Given the description of an element on the screen output the (x, y) to click on. 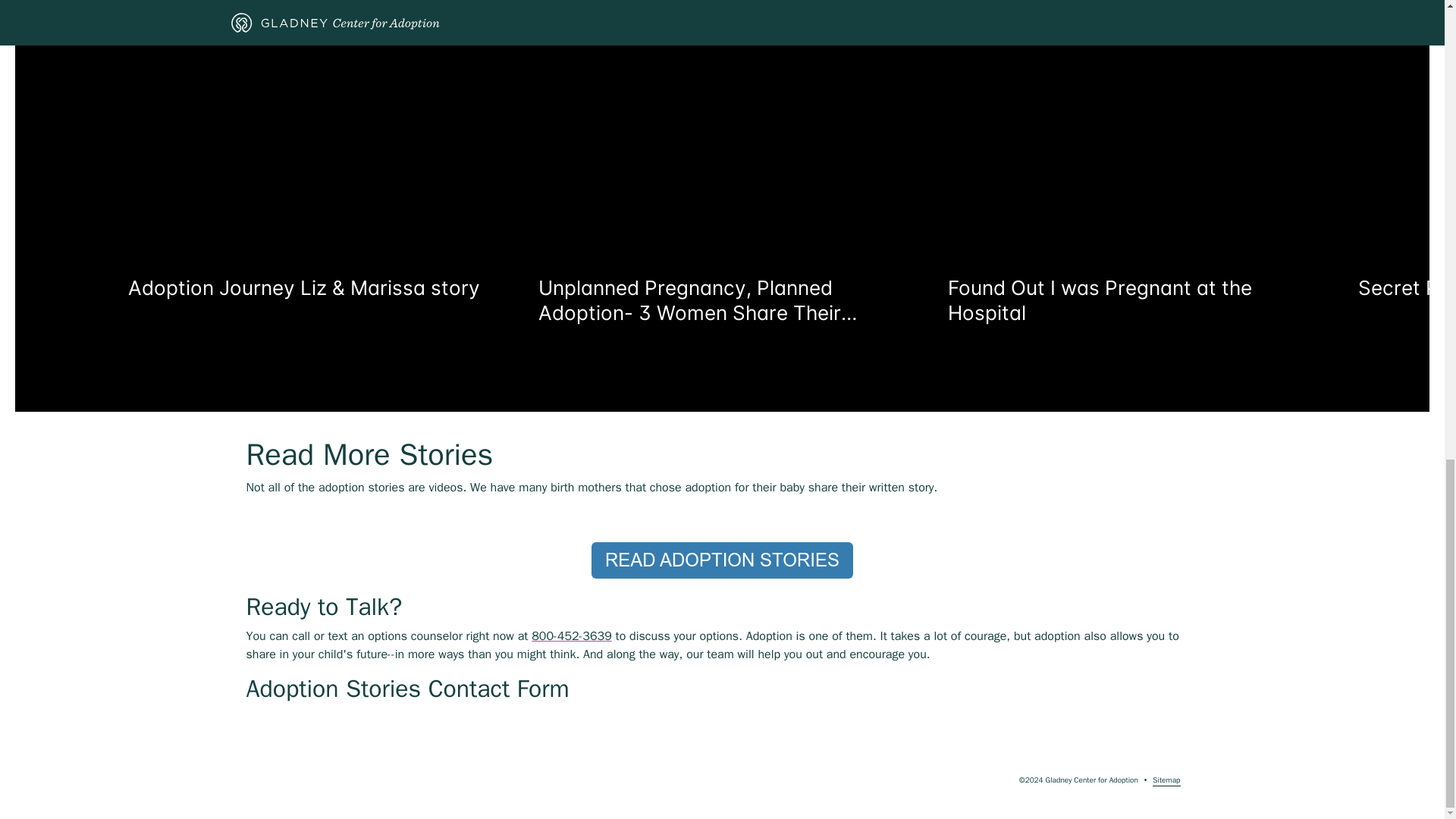
Found Out I was Pregnant at the Hospital (1124, 226)
800-452-3639 (571, 635)
Sitemap (1166, 780)
Found Out I was Pregnant at the Hospital (1124, 300)
